Given the description of an element on the screen output the (x, y) to click on. 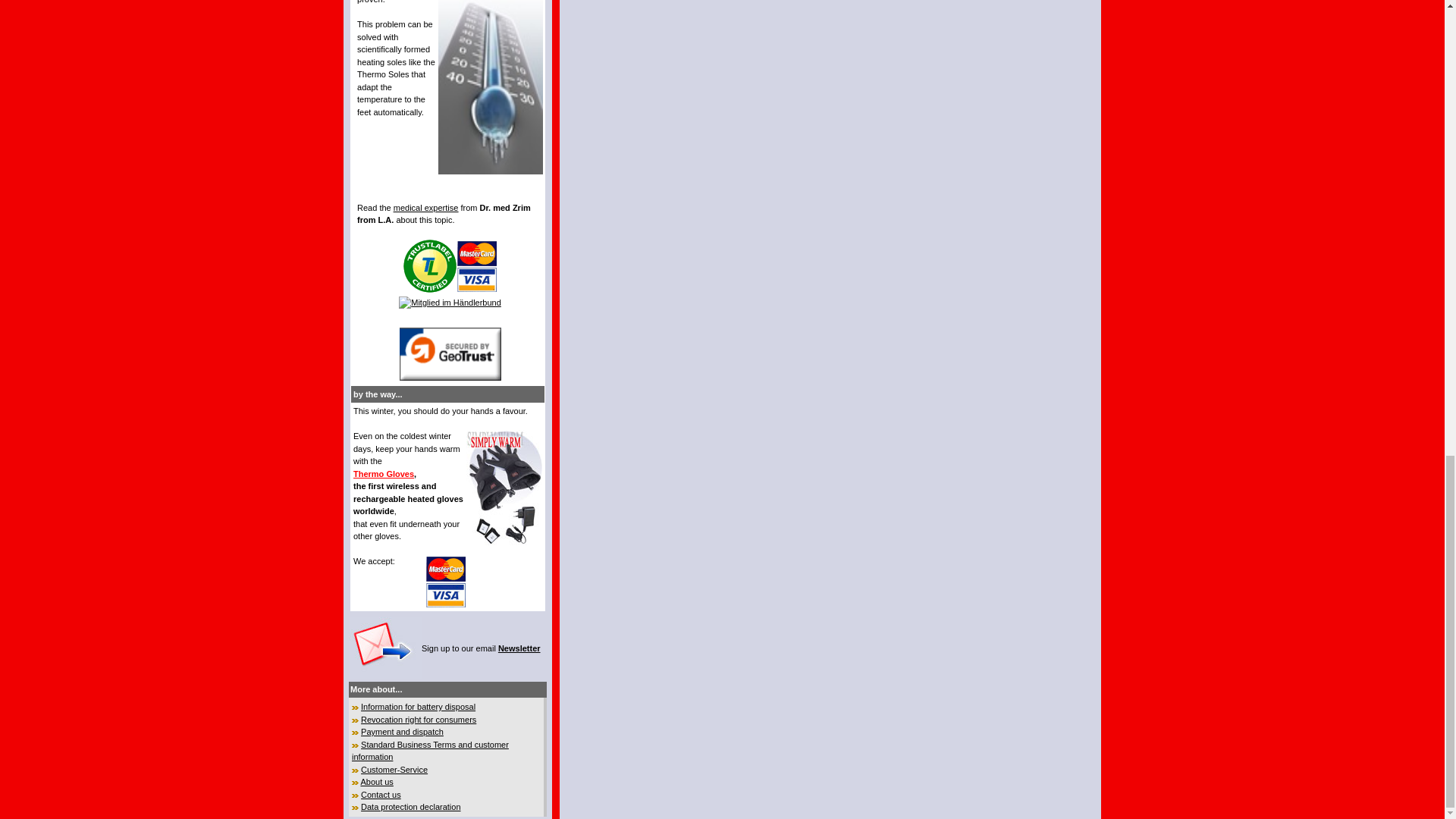
Payment and dispatch (402, 731)
Customer-Service (394, 768)
Newsletter (518, 647)
medical expertise (425, 207)
Contact us (381, 794)
Revocation right for consumers (418, 718)
Standard Business Terms and customer information (430, 751)
Data protection declaration (410, 806)
About us (376, 781)
Information for battery disposal (418, 706)
